Given the description of an element on the screen output the (x, y) to click on. 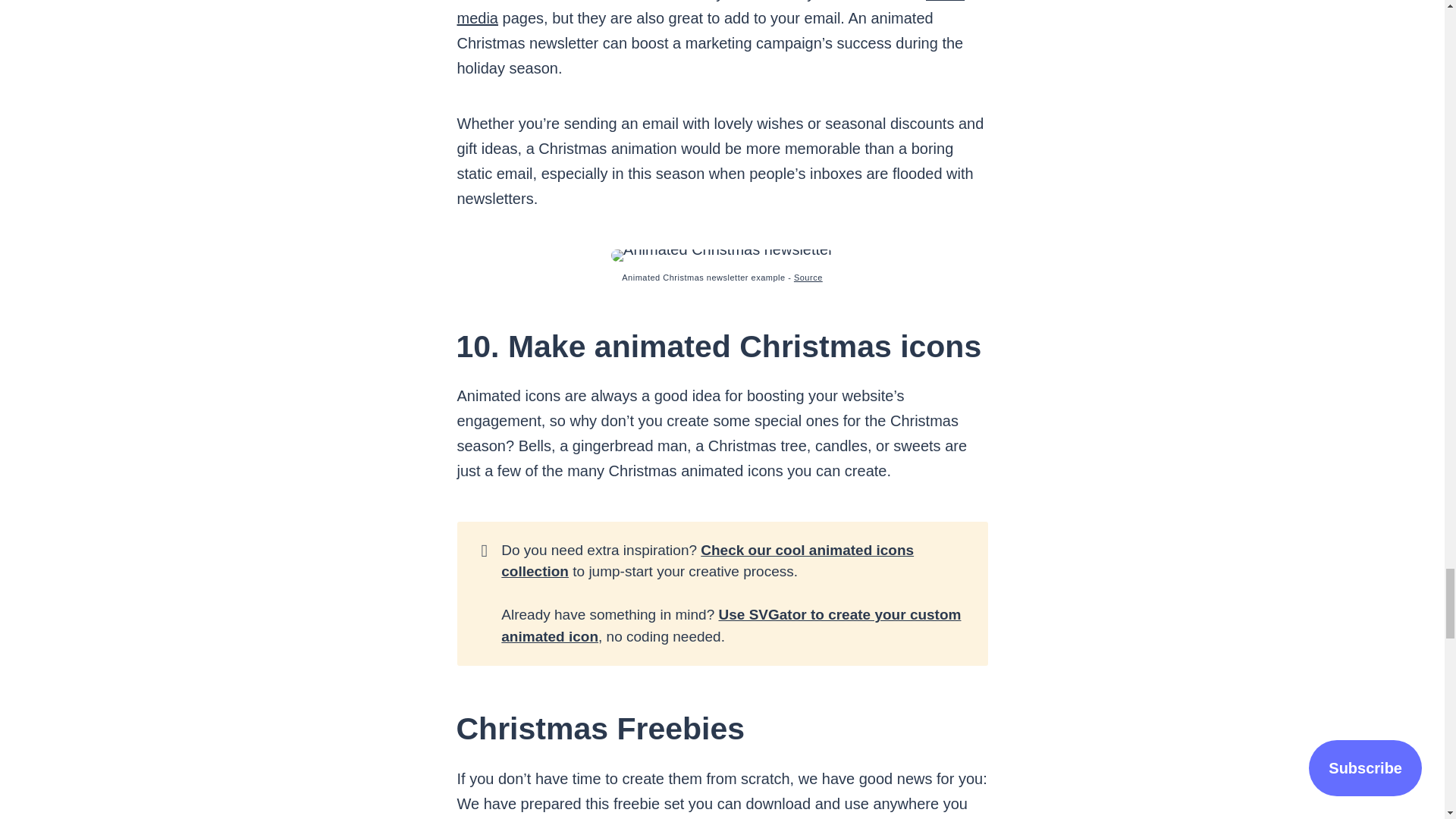
Check our cool animated icons collection (707, 560)
social media (710, 13)
Use SVGator to create your custom animated icon (730, 625)
Source (807, 276)
